Given the description of an element on the screen output the (x, y) to click on. 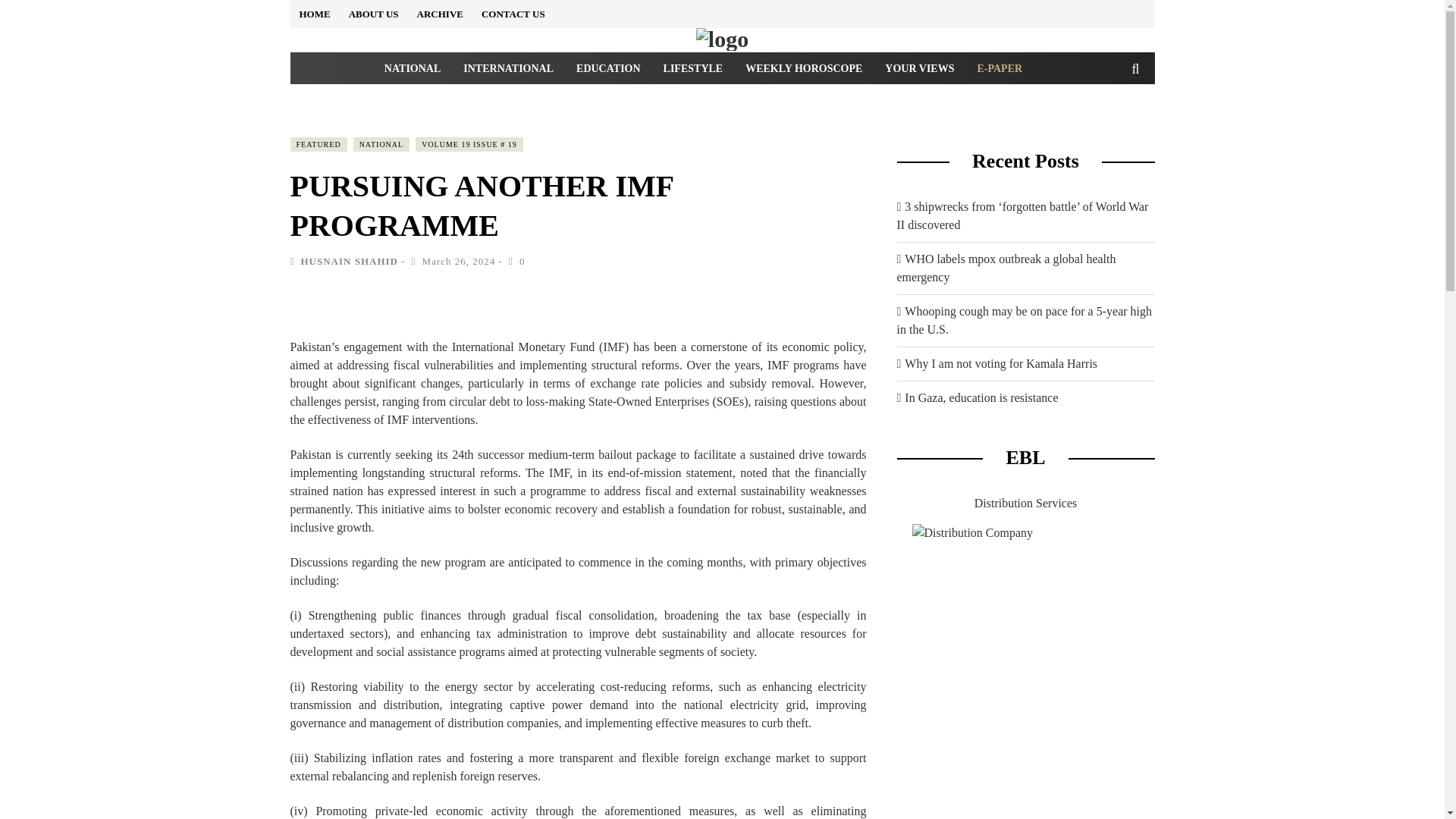
EDUCATION (608, 68)
LIFESTYLE (693, 68)
INTERNATIONAL (507, 68)
HOME (314, 13)
E-PAPER (999, 68)
HUSNAIN SHAHID (348, 260)
WEEKLY HOROSCOPE (803, 68)
NATIONAL (381, 144)
CONTACT US (512, 13)
ABOUT US (373, 13)
